Given the description of an element on the screen output the (x, y) to click on. 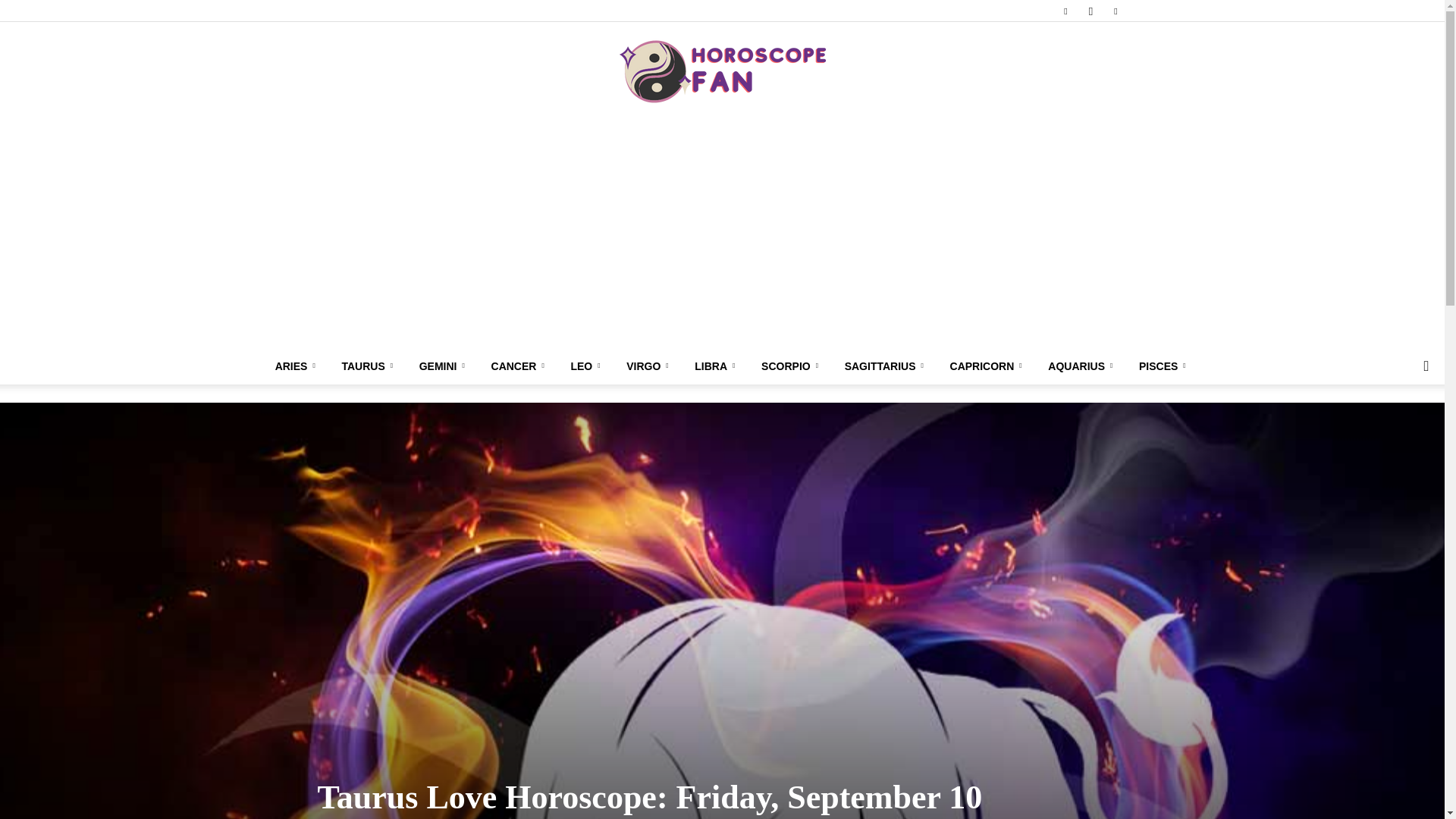
Facebook (1065, 10)
Instagram (1090, 10)
Pinterest (1114, 10)
